Given the description of an element on the screen output the (x, y) to click on. 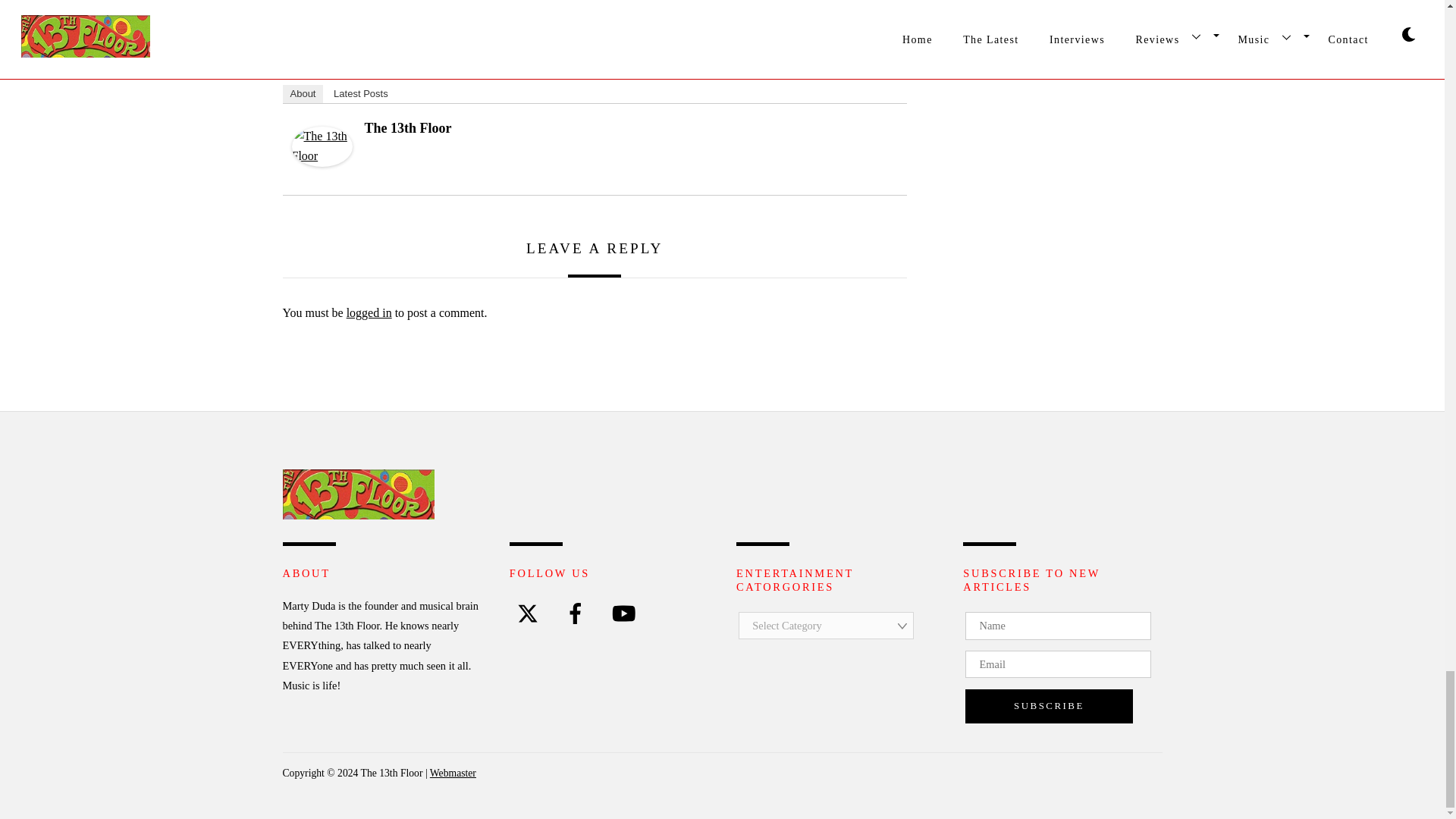
logged in (368, 312)
The 13th Floor (321, 162)
About (302, 94)
Latest Posts (361, 94)
The 13th Floor (407, 127)
The 13th Floor (357, 514)
Subscribe (1048, 706)
